Given the description of an element on the screen output the (x, y) to click on. 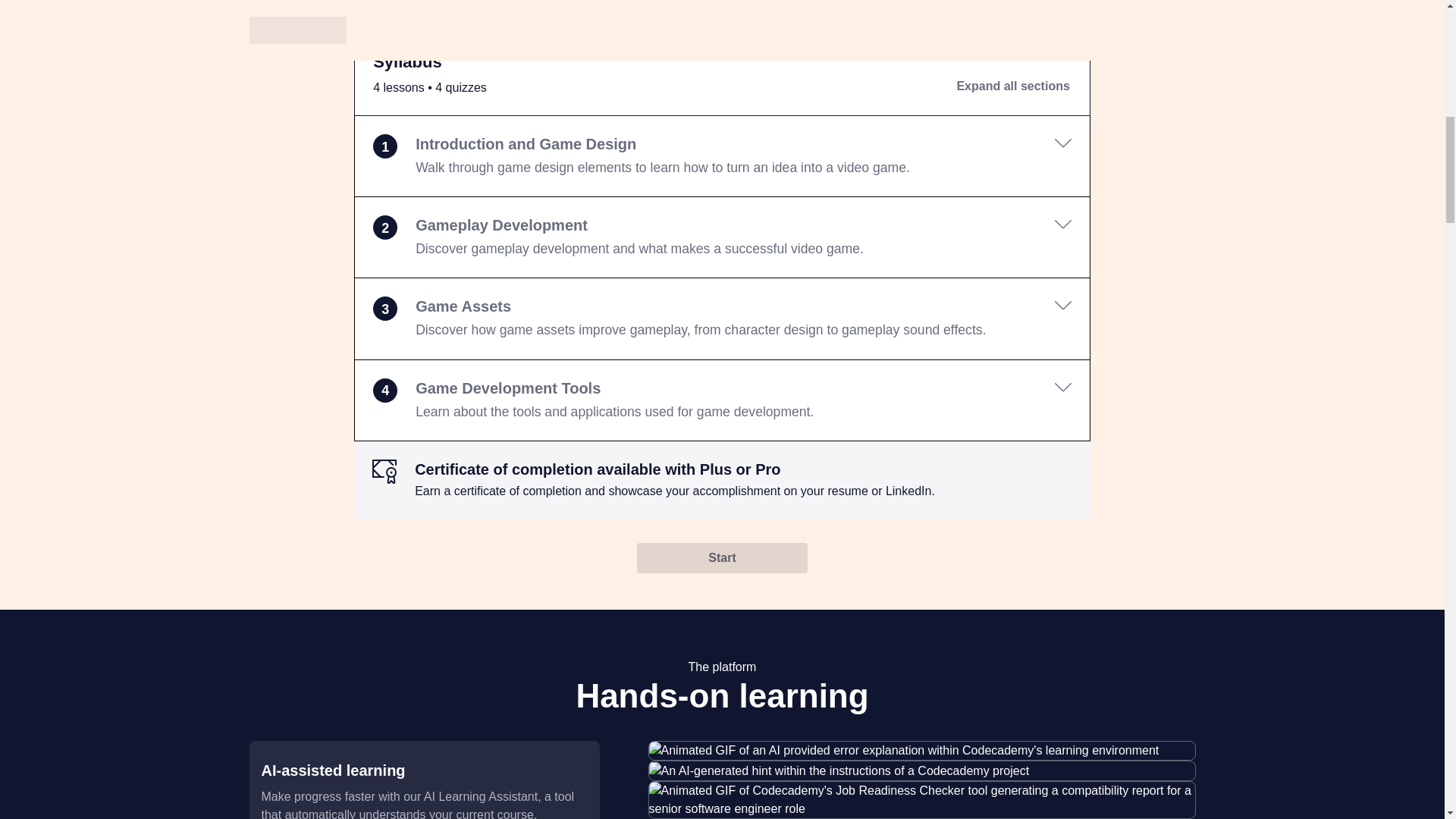
Start (722, 557)
Expand all sections (1012, 86)
